Given the description of an element on the screen output the (x, y) to click on. 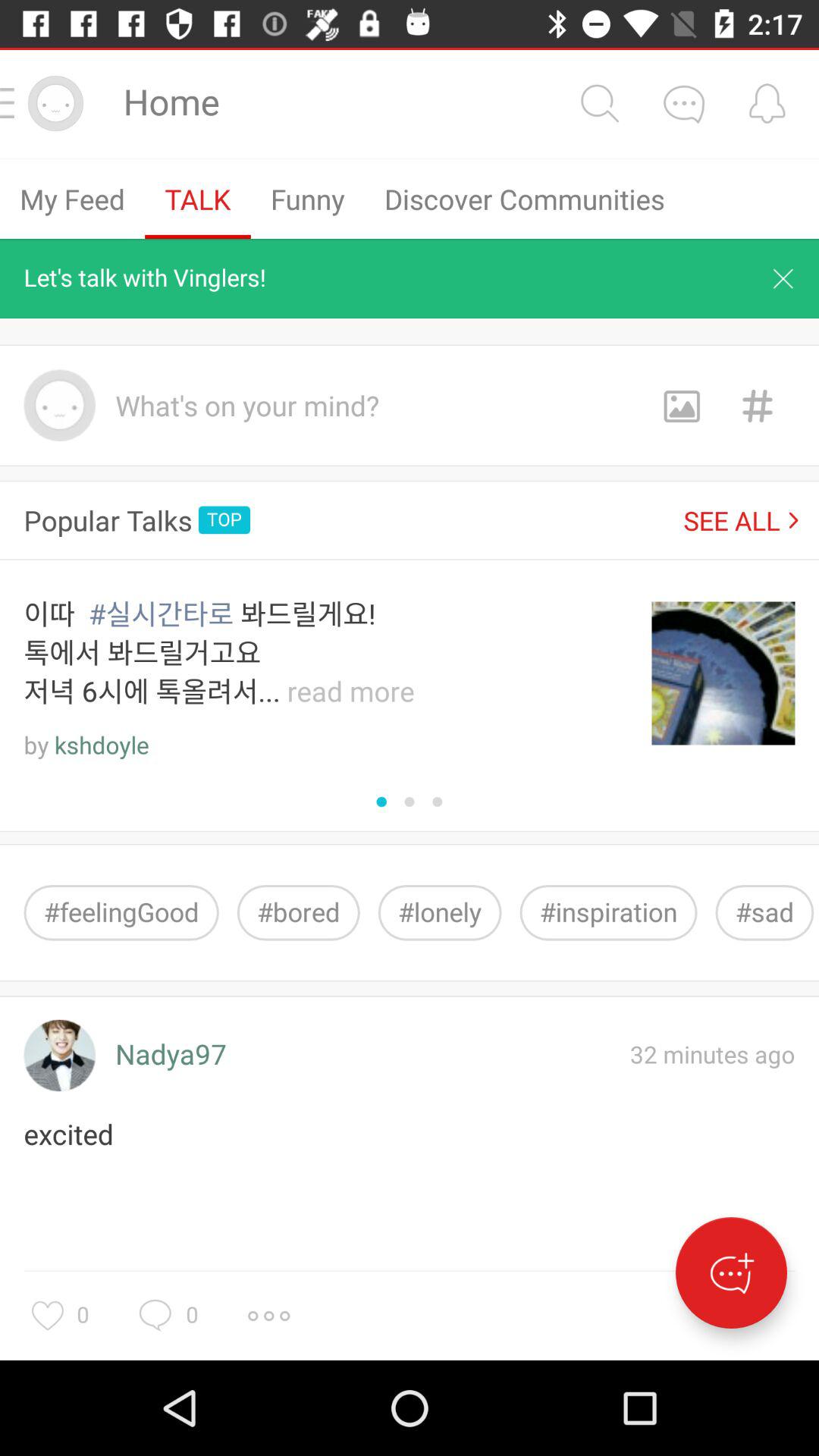
select #feelinggood icon (120, 912)
